Given the description of an element on the screen output the (x, y) to click on. 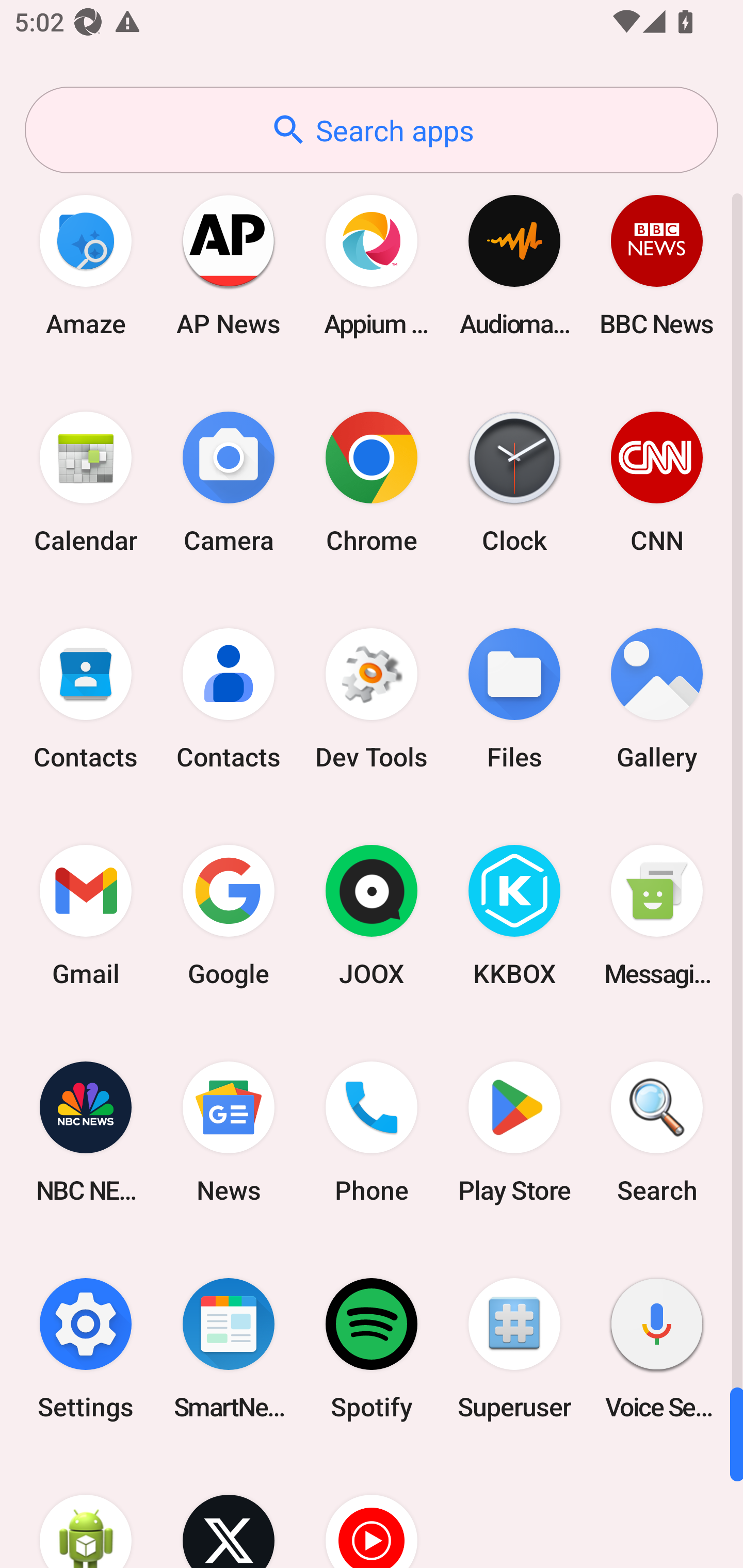
  Search apps (371, 130)
Amaze (85, 264)
AP News (228, 264)
Appium Settings (371, 264)
Audio­mack (514, 264)
BBC News (656, 264)
Calendar (85, 482)
Camera (228, 482)
Chrome (371, 482)
Clock (514, 482)
CNN (656, 482)
Contacts (85, 699)
Contacts (228, 699)
Dev Tools (371, 699)
Files (514, 699)
Gallery (656, 699)
Gmail (85, 915)
Google (228, 915)
JOOX (371, 915)
KKBOX (514, 915)
Messaging (656, 915)
NBC NEWS (85, 1131)
News (228, 1131)
Phone (371, 1131)
Play Store (514, 1131)
Search (656, 1131)
Settings (85, 1348)
SmartNews (228, 1348)
Spotify (371, 1348)
Superuser (514, 1348)
Voice Search (656, 1348)
WebView Browser Tester (85, 1512)
X (228, 1512)
YT Music (371, 1512)
